Given the description of an element on the screen output the (x, y) to click on. 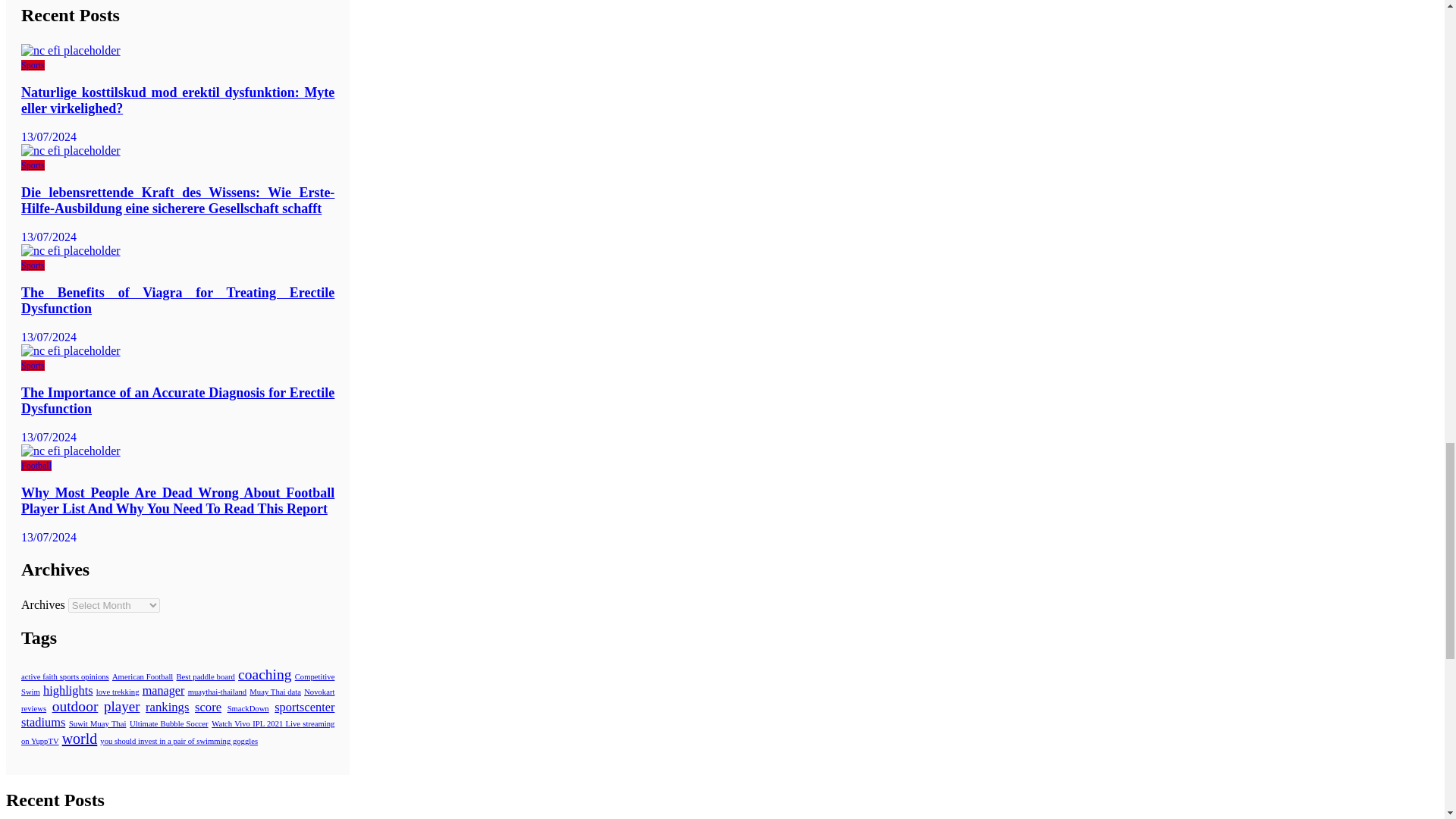
The Benefits of Viagra for Treating Erectile Dysfunction (70, 250)
